Given the description of an element on the screen output the (x, y) to click on. 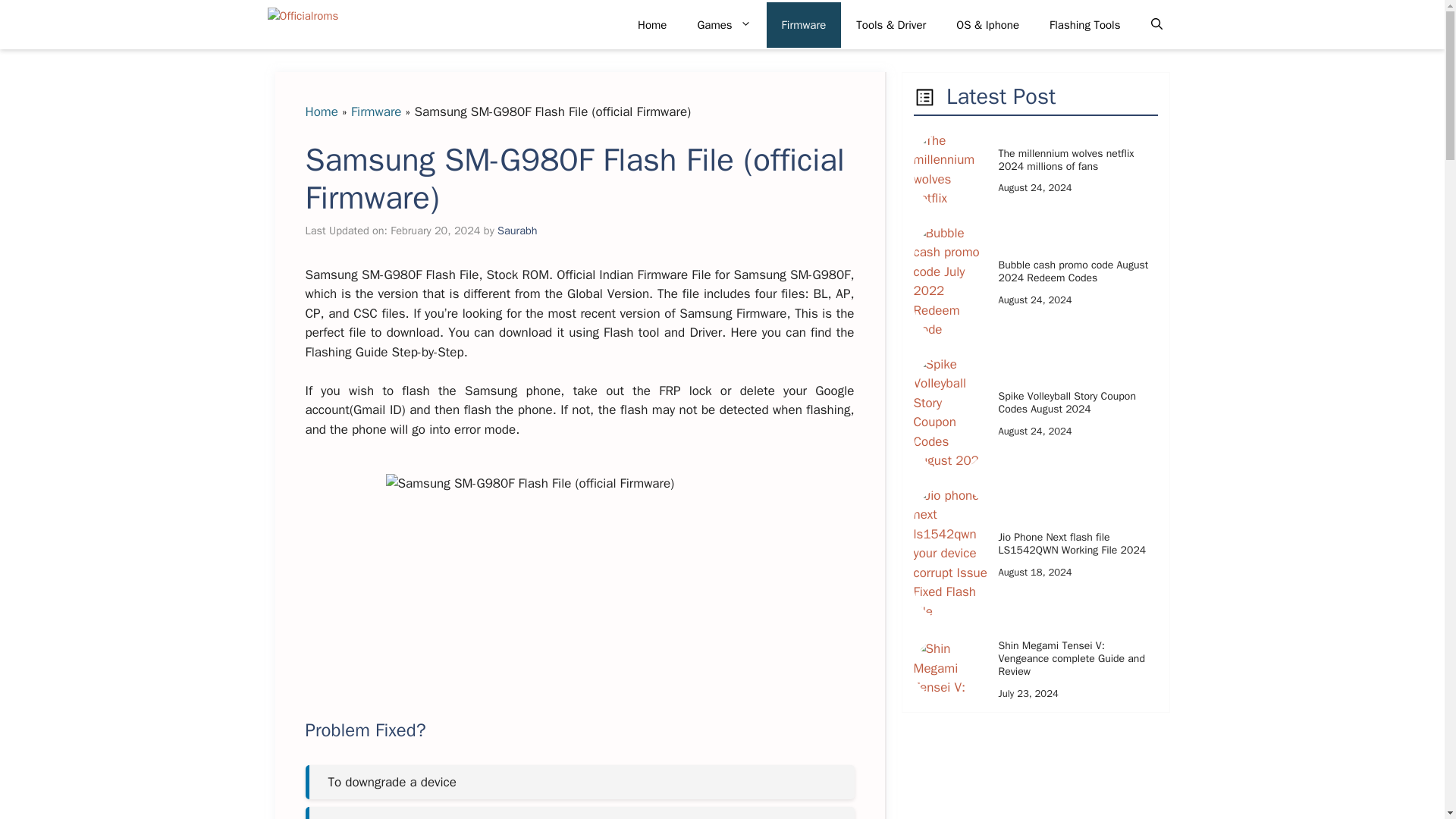
Saurabh (517, 230)
Games (723, 23)
View all posts by Saurabh (517, 230)
Officialroms (357, 24)
Firmware (804, 23)
Flashing Tools (1084, 23)
Home (320, 111)
Firmware (375, 111)
Home (652, 23)
